Given the description of an element on the screen output the (x, y) to click on. 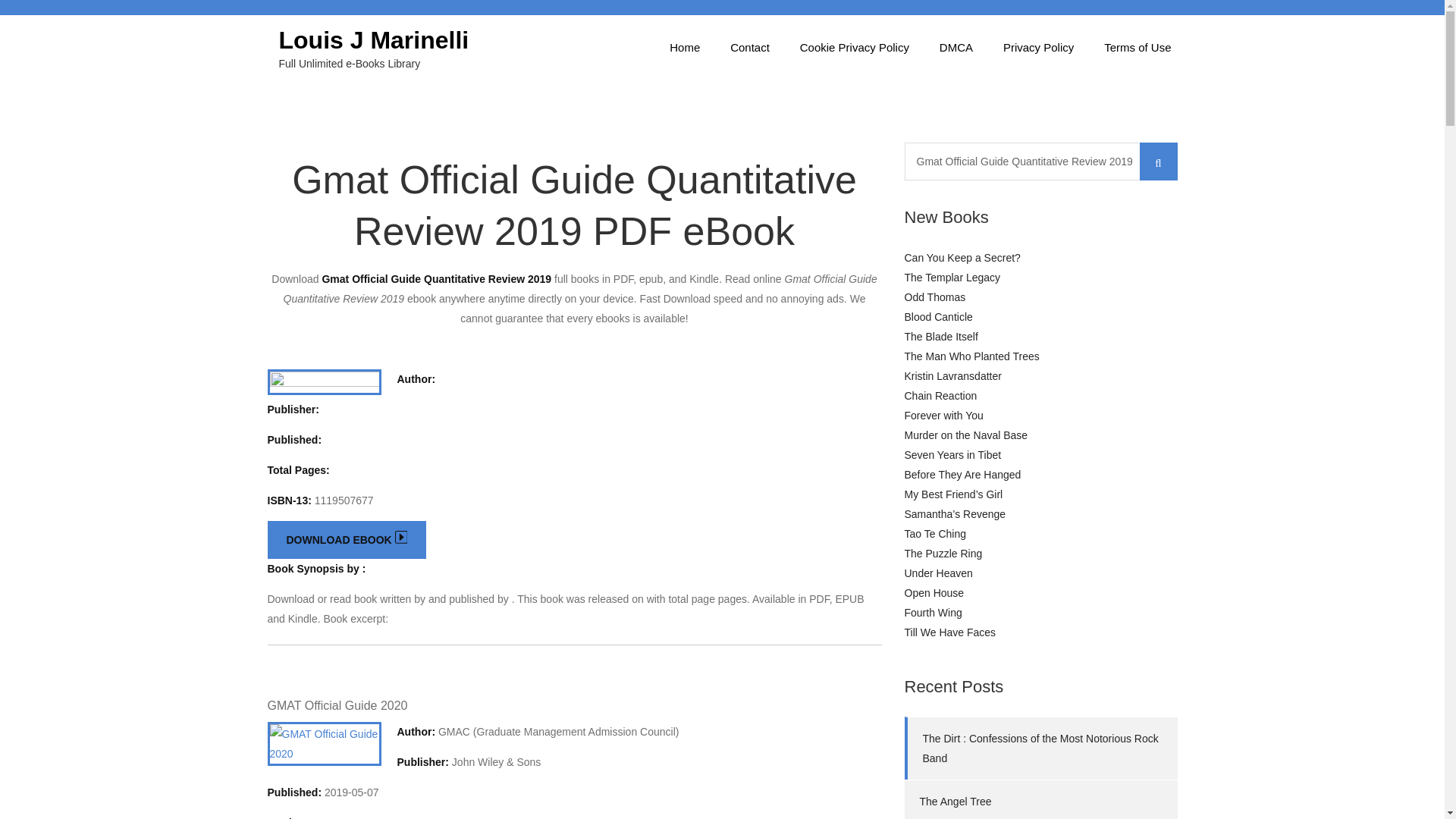
Louis J Marinelli (373, 40)
Gmat Official Guide Quantitative Review 2019 (1040, 161)
DMCA (956, 47)
Terms of Use (1137, 47)
Search (1157, 161)
Cookie Privacy Policy (854, 47)
Contact (749, 47)
GMAT Official Guide 2020 (336, 705)
Gmat Official Guide Quantitative Review 2019 (1040, 161)
